Given the description of an element on the screen output the (x, y) to click on. 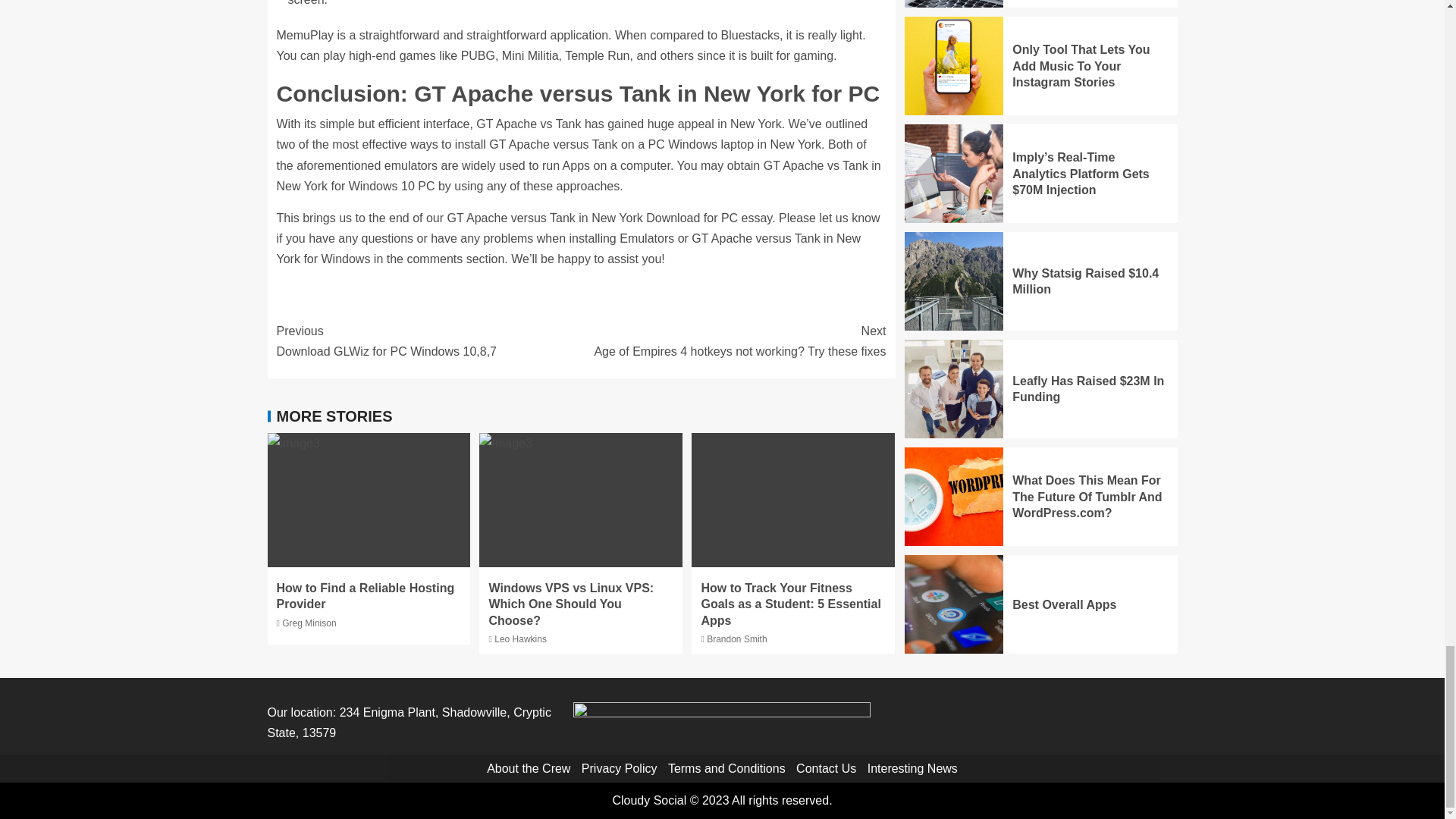
Brandon Smith (736, 638)
Leo Hawkins (521, 638)
Windows VPS vs Linux VPS: Which One Should You Choose? (570, 604)
How to Find a Reliable Hosting Provider (365, 595)
Greg Minison (309, 623)
